Given the description of an element on the screen output the (x, y) to click on. 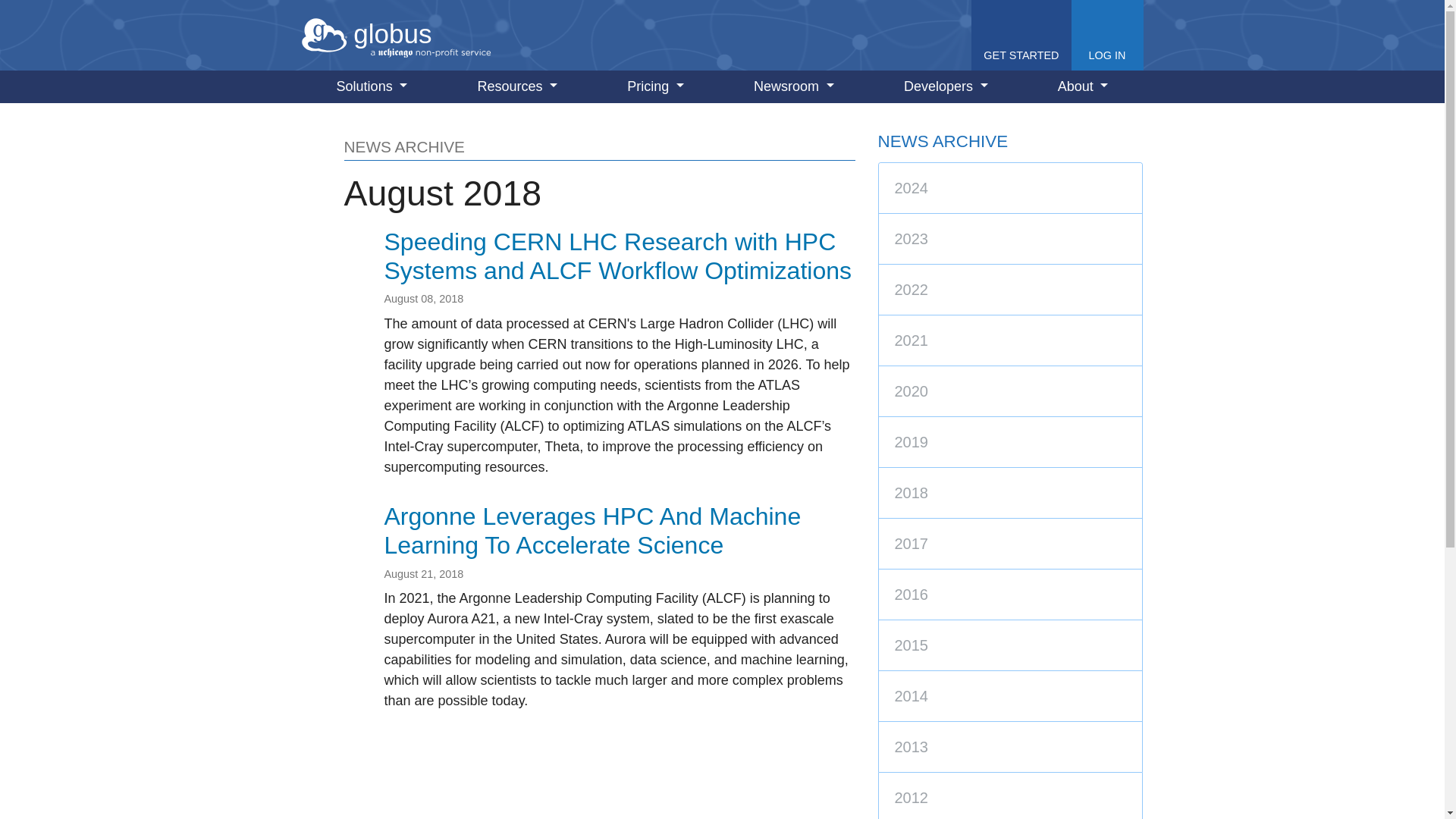
Pricing (655, 86)
Developers (946, 86)
About (1083, 86)
Resources (516, 86)
GET STARTED (1020, 35)
Solutions (371, 86)
Newsroom (794, 86)
globus (396, 35)
LOG IN (1106, 35)
